Given the description of an element on the screen output the (x, y) to click on. 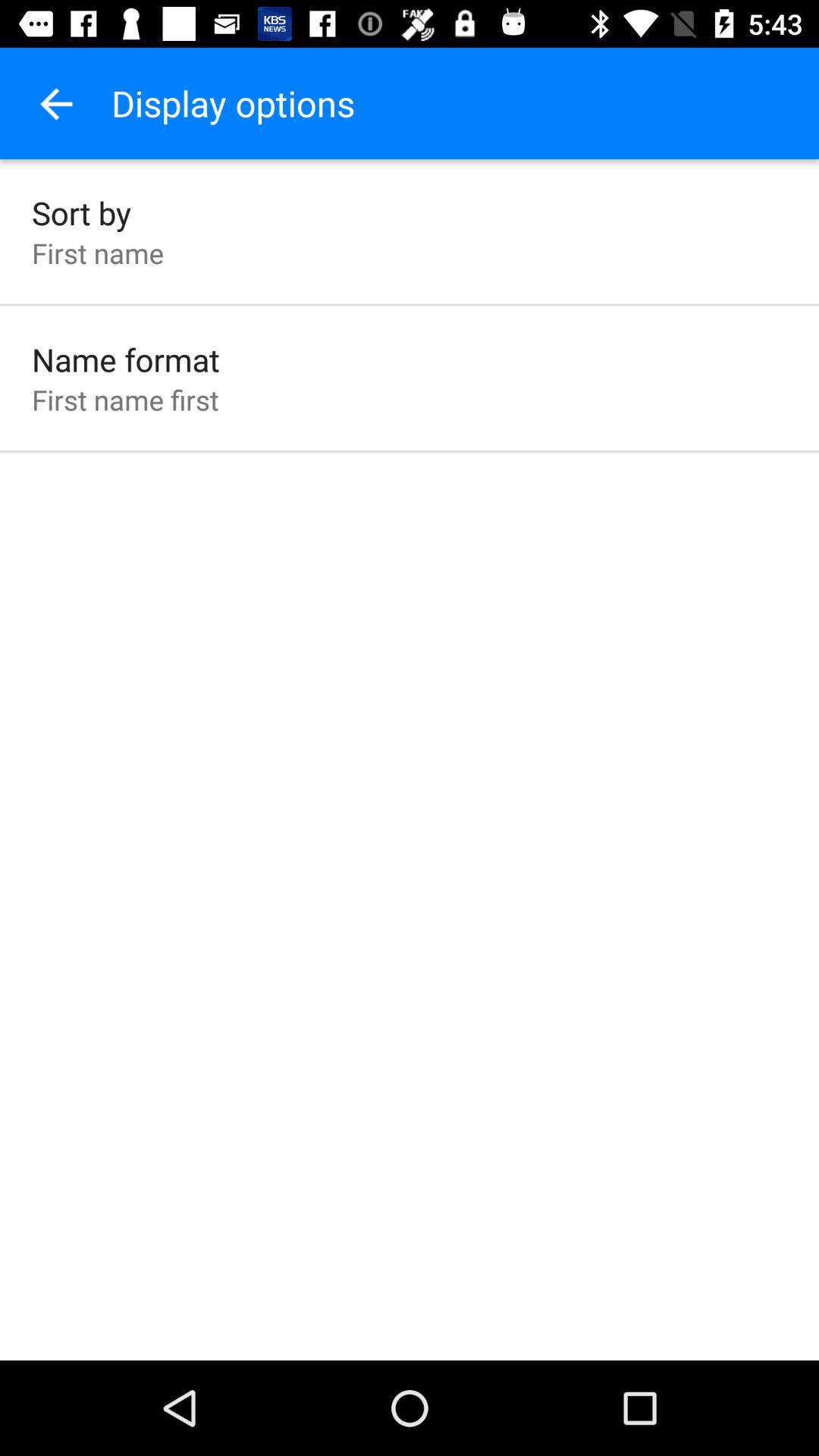
flip until the name format (125, 359)
